Given the description of an element on the screen output the (x, y) to click on. 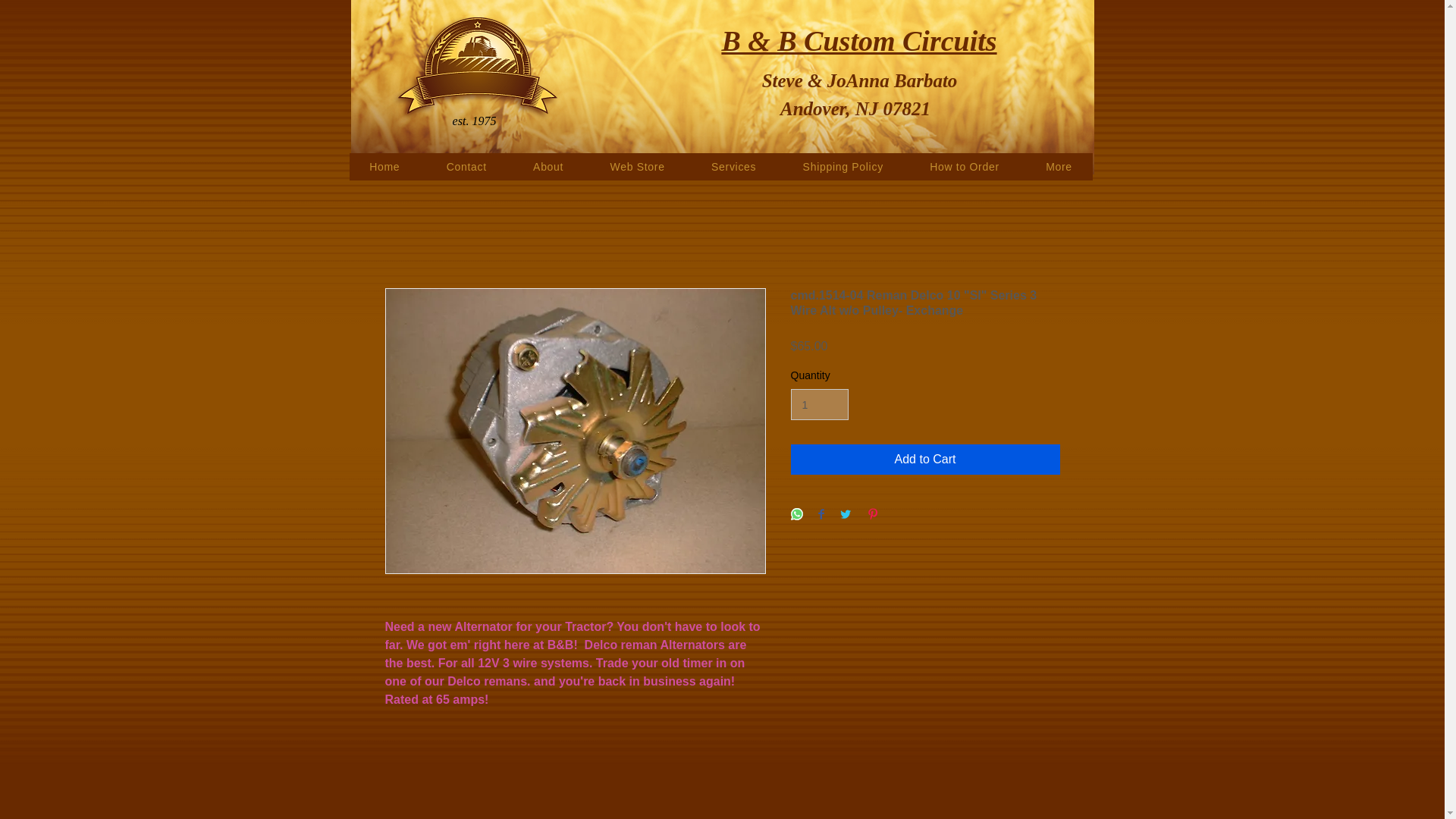
About (547, 166)
Contact (466, 166)
Web Store (637, 166)
Add to Cart (924, 459)
How to Order (965, 166)
Services (733, 166)
Shipping Policy (843, 166)
1 (818, 404)
More (1058, 166)
Home (384, 166)
